Given the description of an element on the screen output the (x, y) to click on. 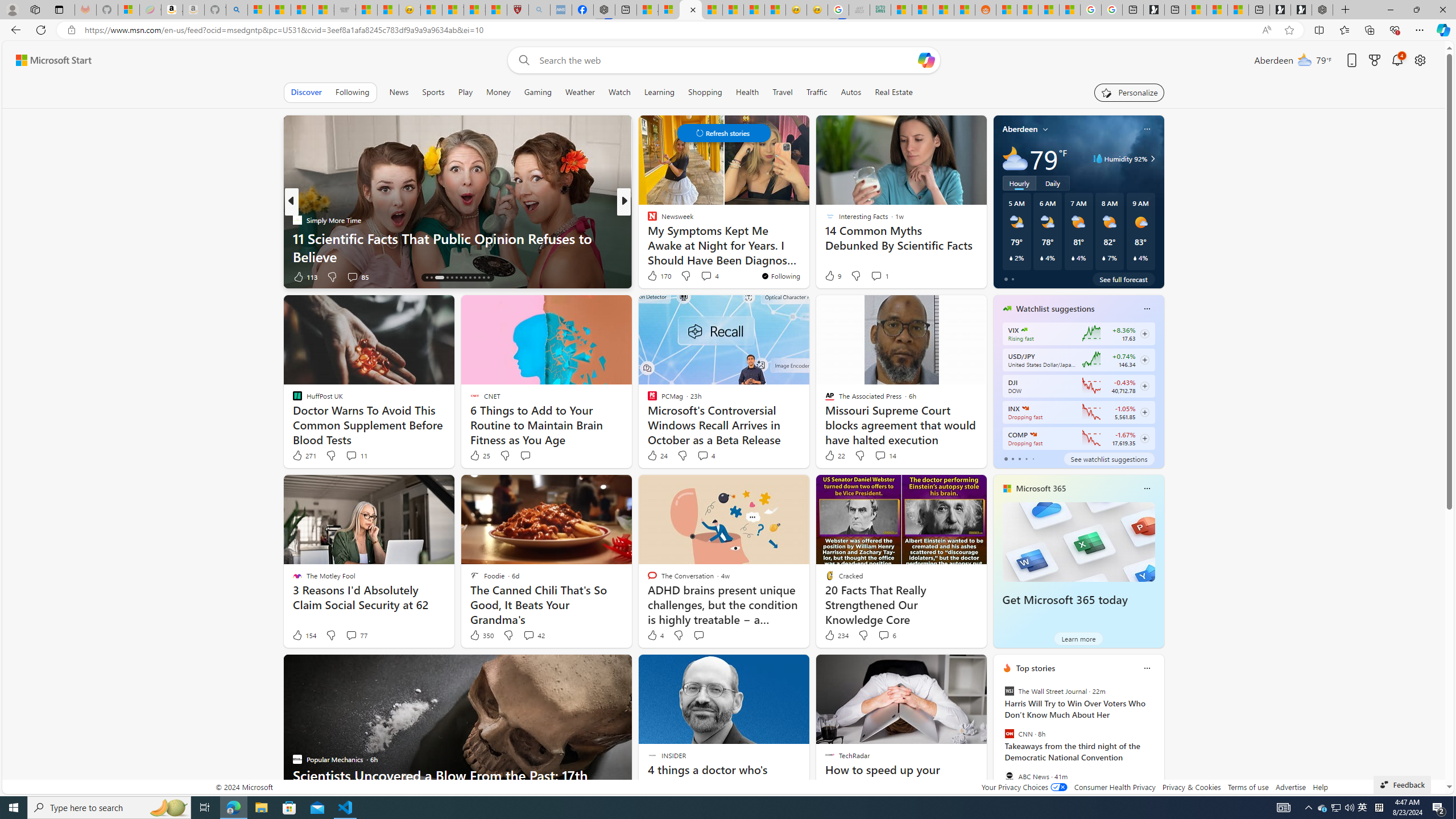
tab-4 (1032, 458)
View comments 11 Comment (350, 455)
The Independent (647, 219)
Mostly cloudy (1014, 158)
View comments 42 Comment (528, 635)
View comments 85 Comment (357, 276)
